Given the description of an element on the screen output the (x, y) to click on. 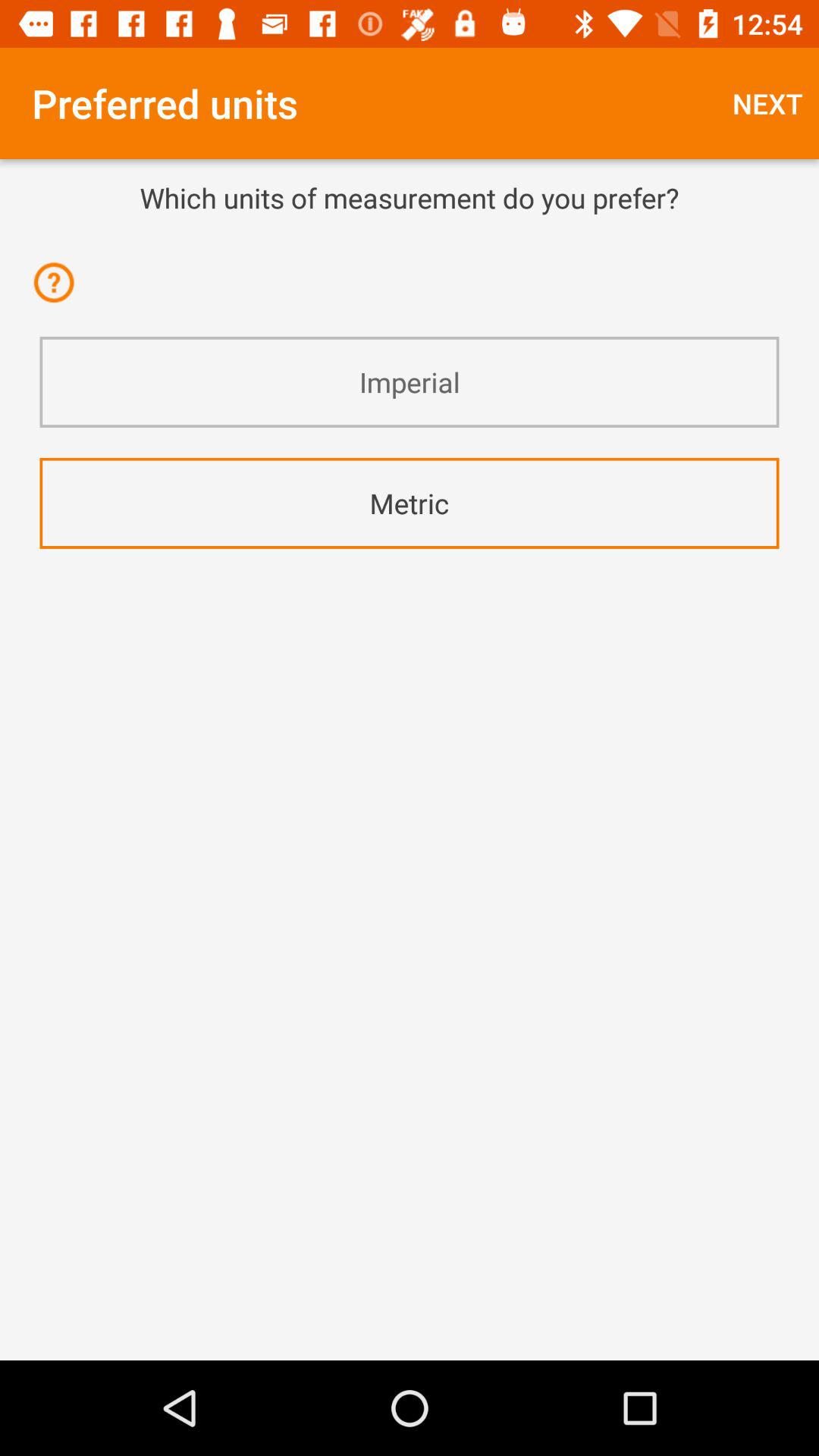
jump to metric item (409, 503)
